Given the description of an element on the screen output the (x, y) to click on. 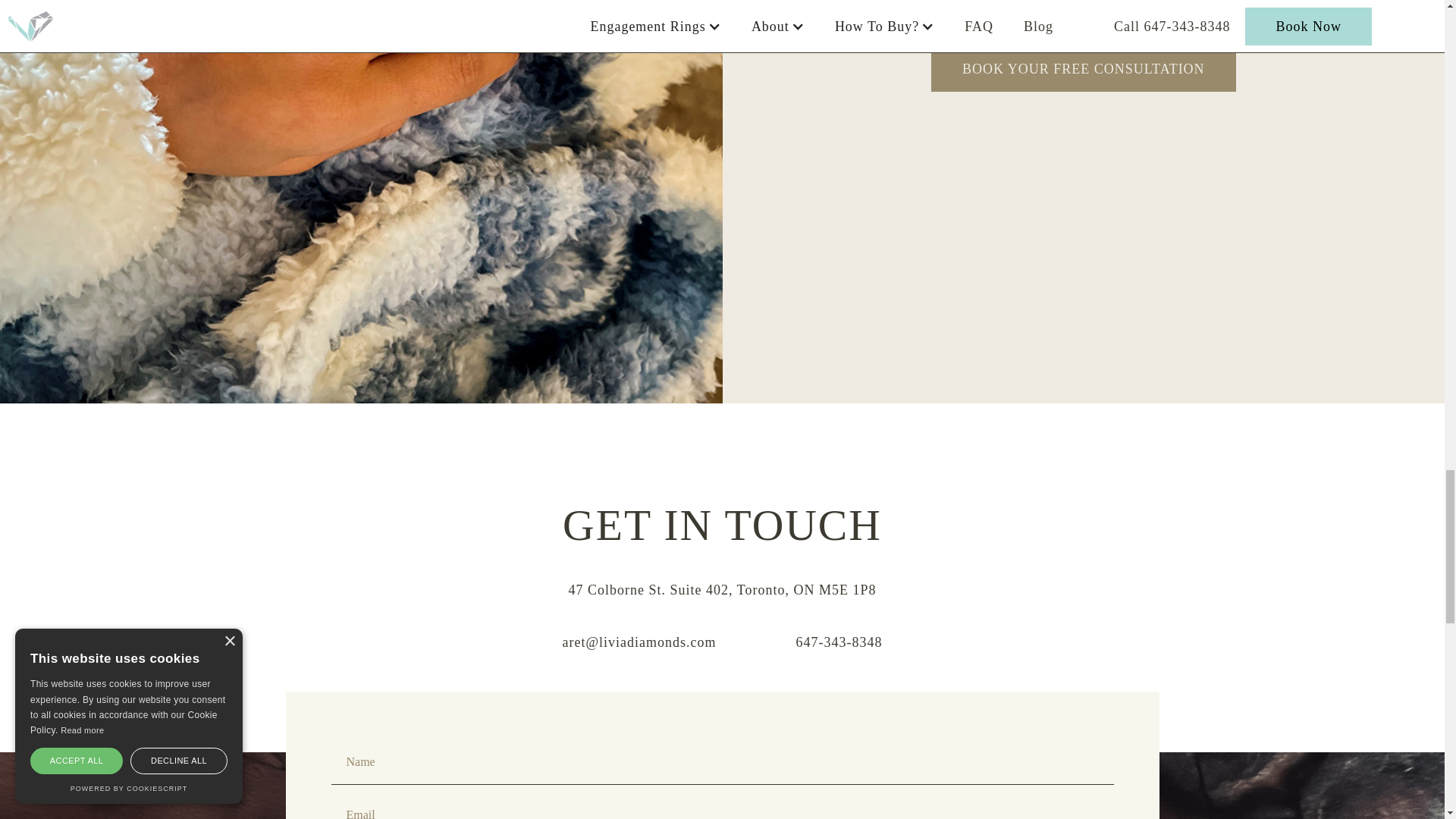
647-343-8348 (805, 642)
47 Colborne St. Suite 402, Toronto, ON M5E 1P8 (722, 590)
BOOK YOUR FREE CONSULTATION (1083, 83)
